Given the description of an element on the screen output the (x, y) to click on. 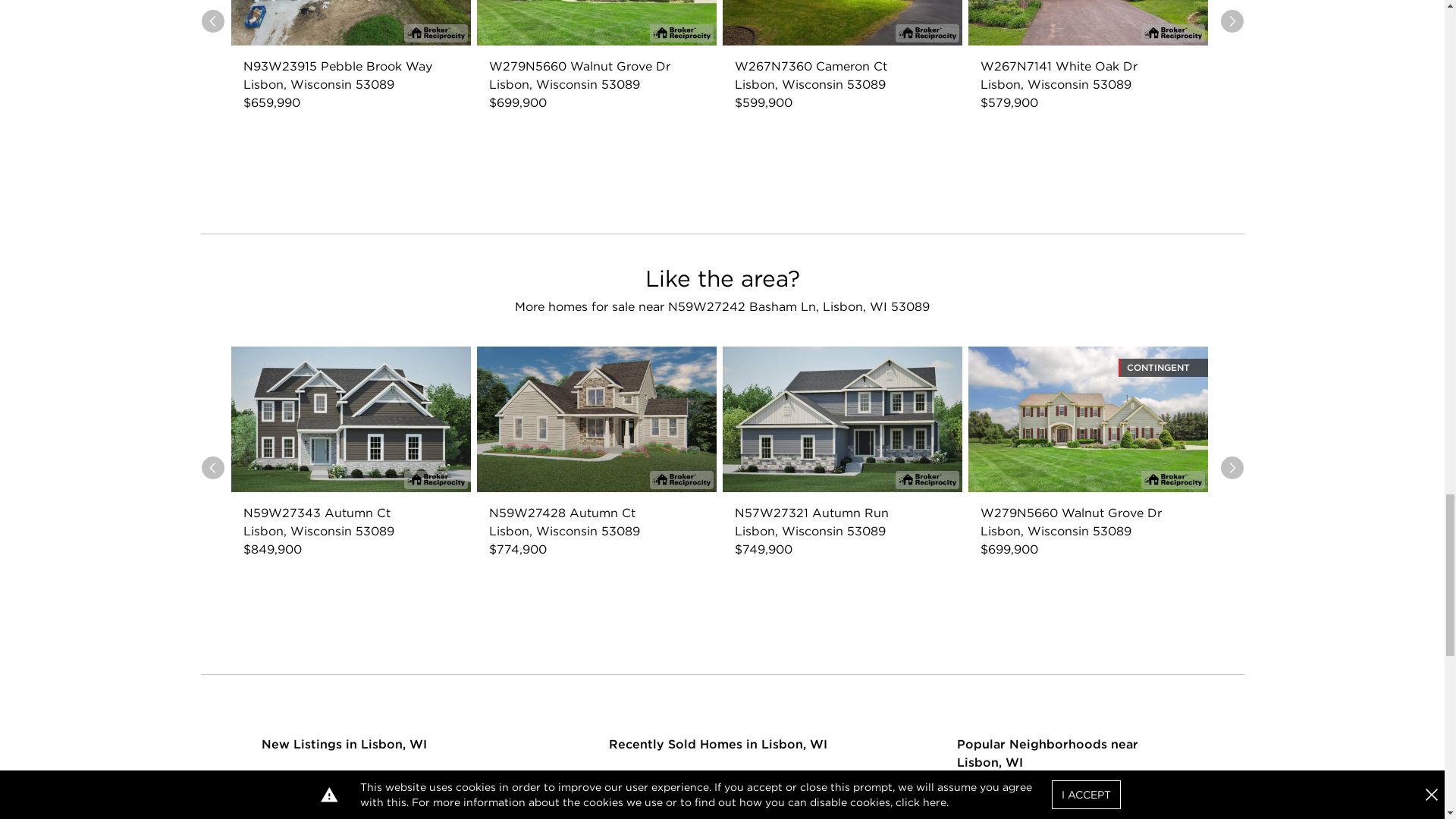
Next (1232, 20)
Previous (213, 20)
Previous (213, 467)
